Given the description of an element on the screen output the (x, y) to click on. 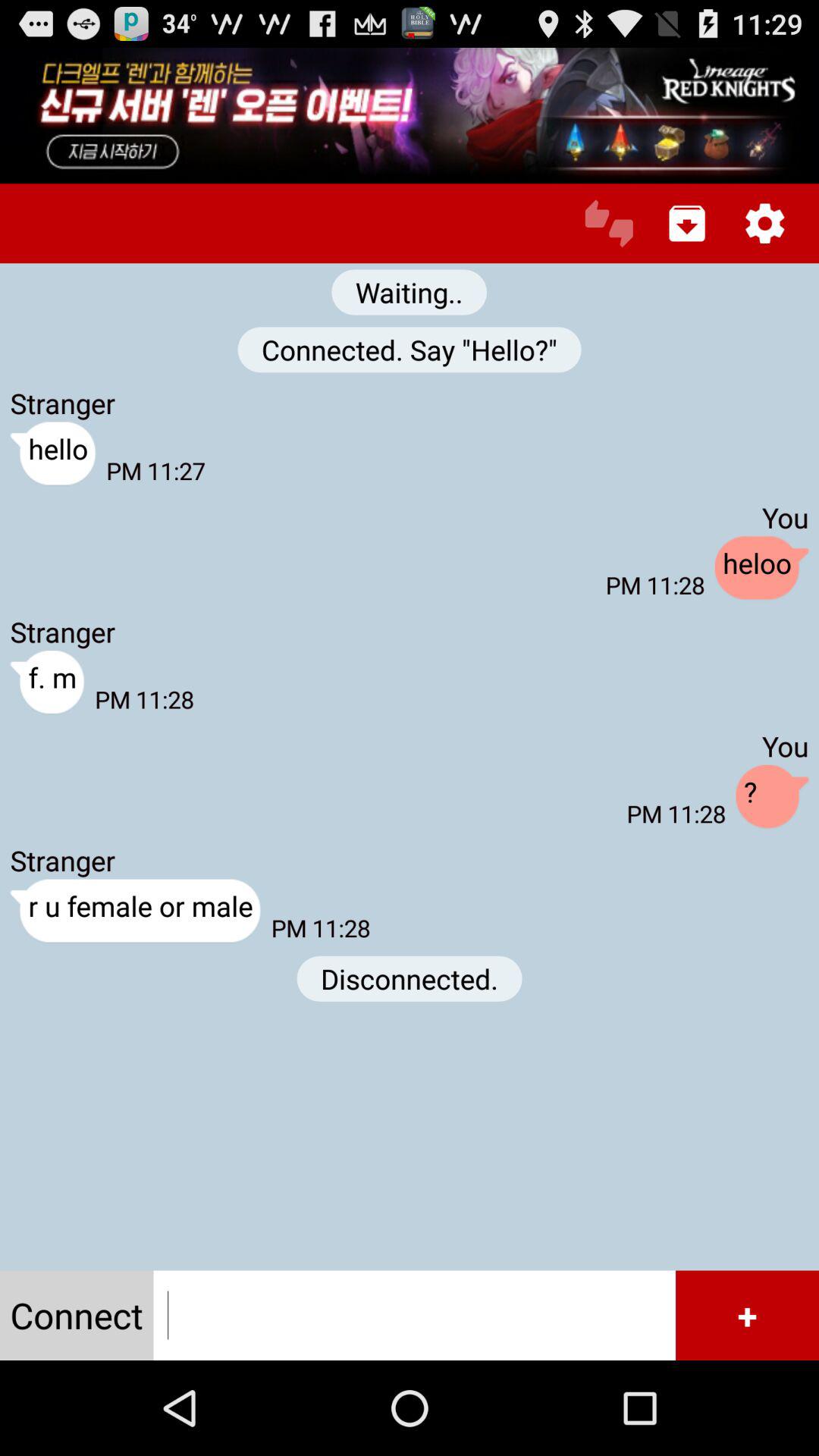
turn off the app above the heloo app (686, 223)
